Given the description of an element on the screen output the (x, y) to click on. 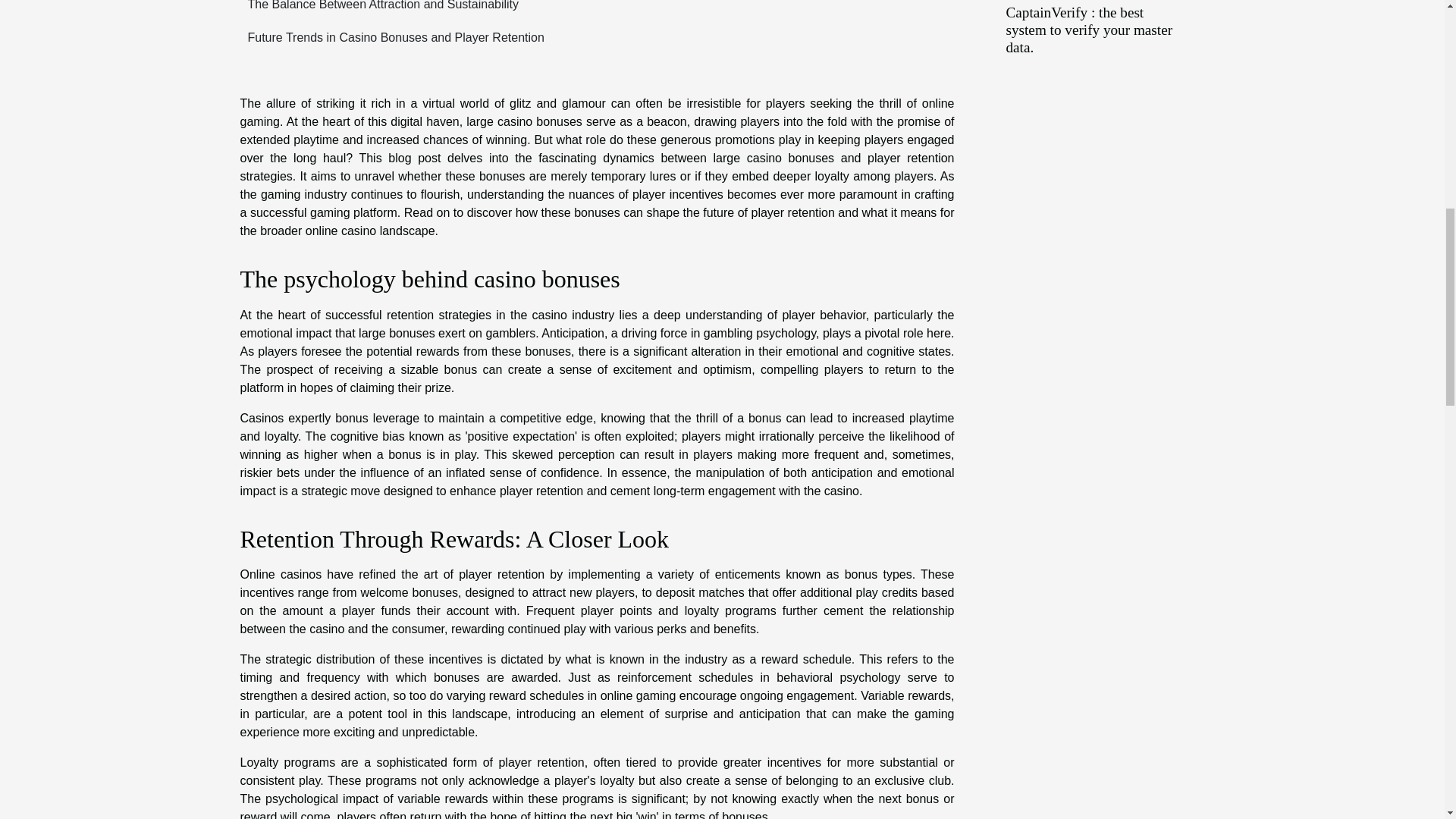
CaptainVerify : the best system to verify your master data. (1089, 29)
The Balance Between Attraction and Sustainability (379, 5)
CaptainVerify : the best system to verify your master data. (1089, 29)
Future Trends in Casino Bonuses and Player Retention (391, 37)
